Given the description of an element on the screen output the (x, y) to click on. 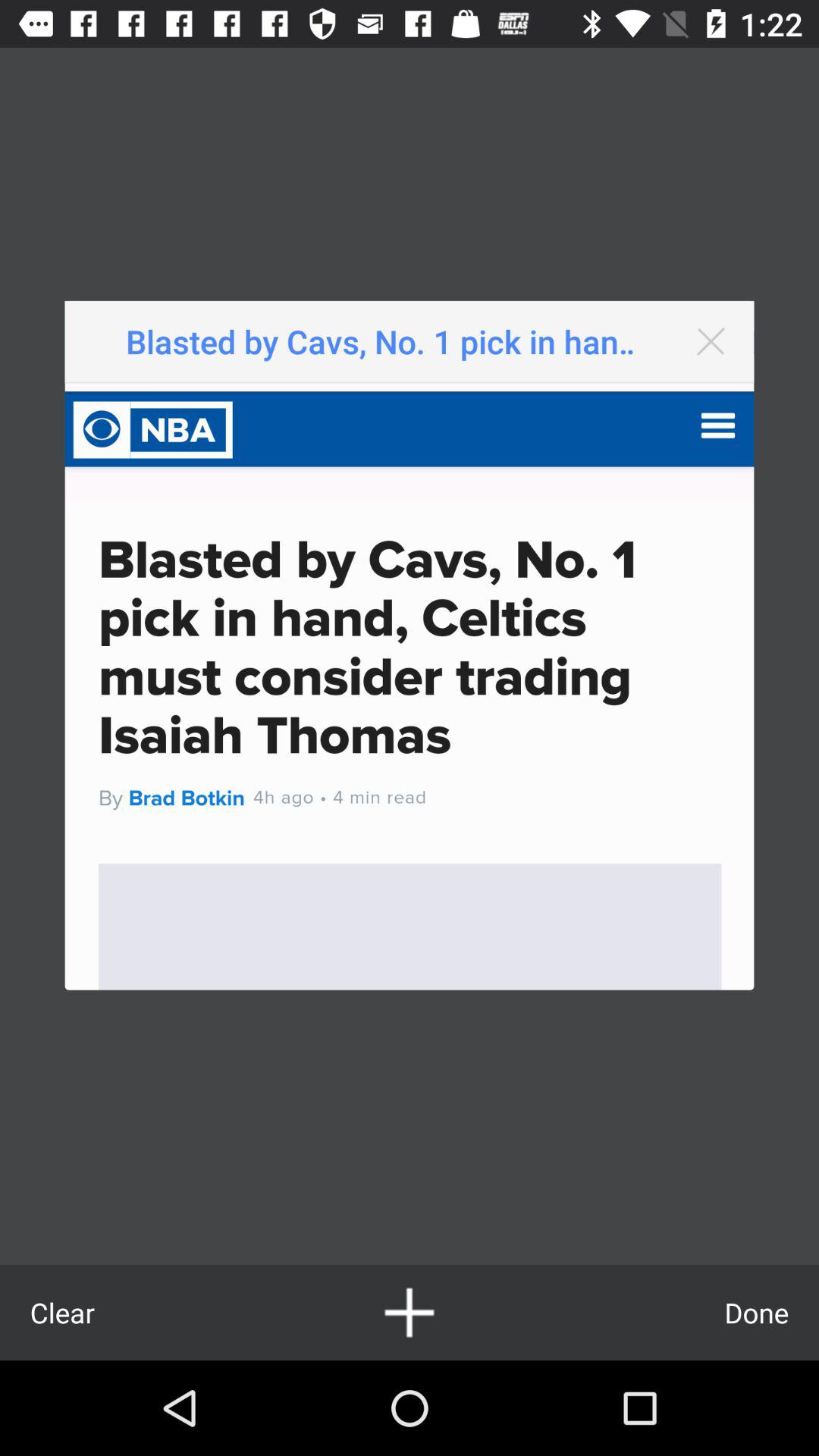
flip to the clear icon (62, 1312)
